Given the description of an element on the screen output the (x, y) to click on. 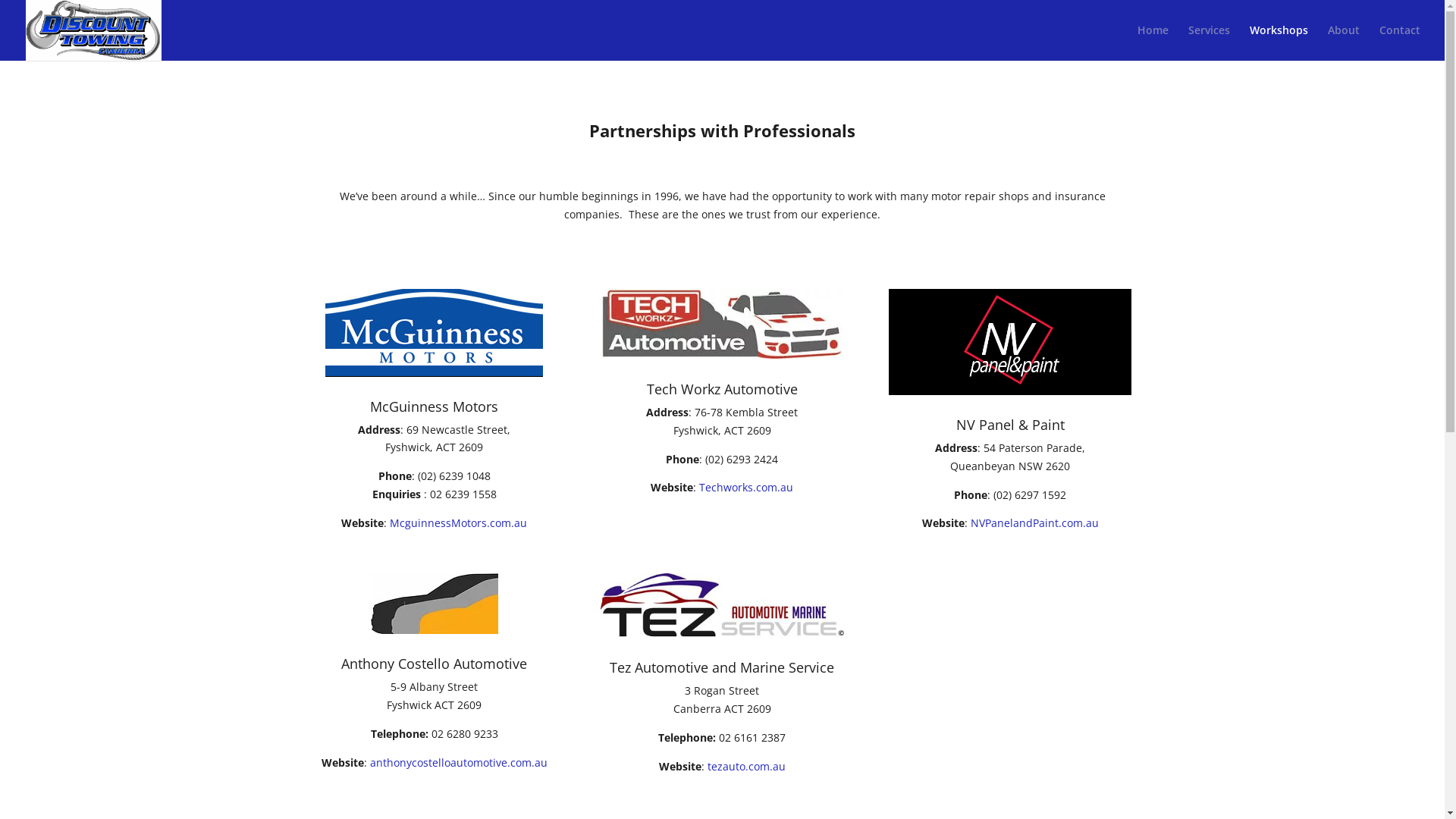
tezauto.com.au Element type: text (746, 766)
McguinnessMotors.com.au Element type: text (458, 522)
Contact Element type: text (1399, 42)
Techworks.com.au Element type: text (746, 487)
Services Element type: text (1209, 42)
anthonycostelloautomotive.com.au Element type: text (458, 762)
NVPanelandPaint.com.au Element type: text (1034, 522)
Home Element type: text (1152, 42)
About Element type: text (1343, 42)
Workshops Element type: text (1278, 42)
